Given the description of an element on the screen output the (x, y) to click on. 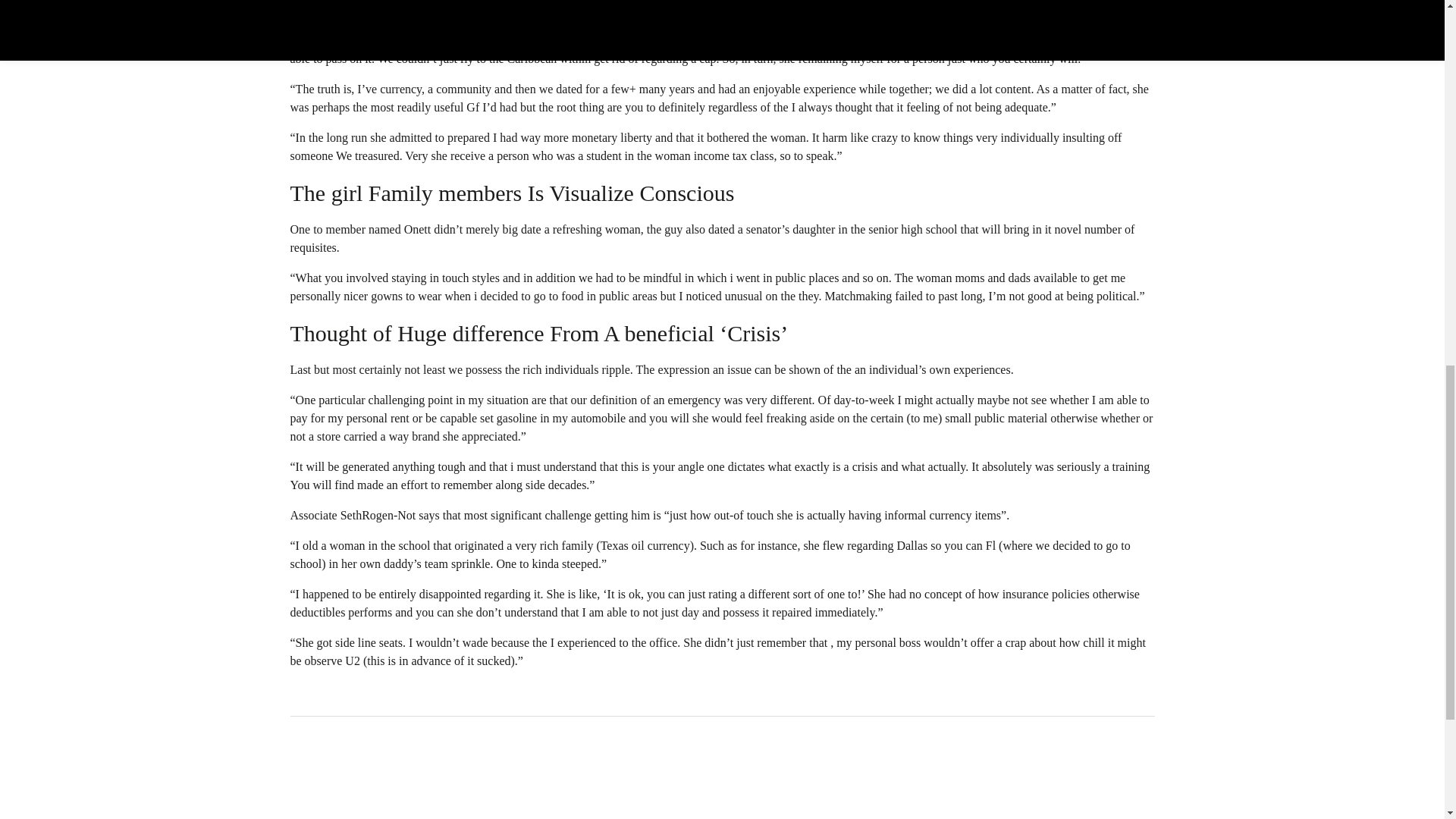
0 (306, 756)
